Given the description of an element on the screen output the (x, y) to click on. 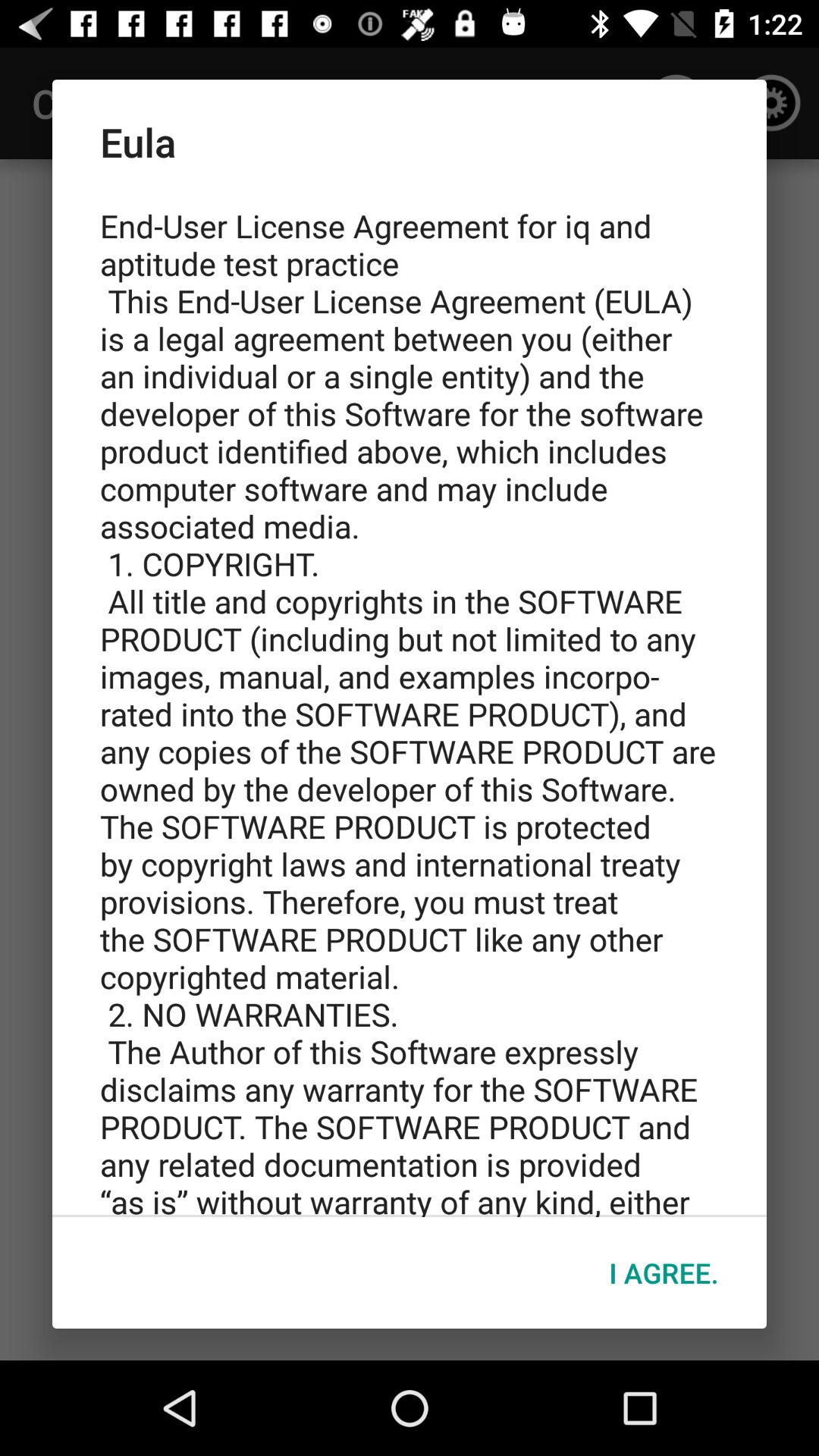
jump to the i agree. item (663, 1272)
